Given the description of an element on the screen output the (x, y) to click on. 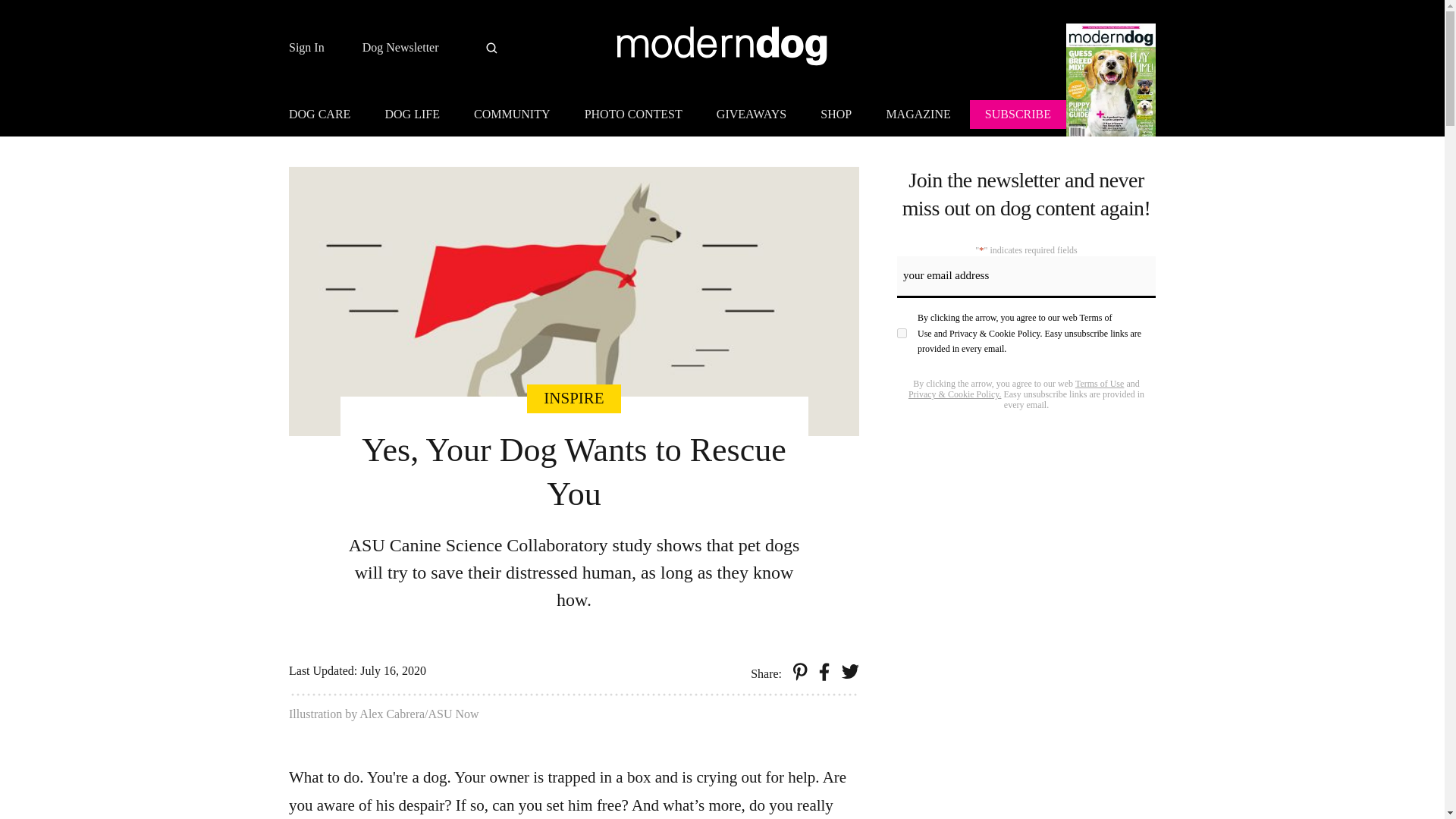
Sign In (306, 47)
Dog Newsletter (400, 47)
DOG CARE (326, 116)
DOG LIFE (411, 116)
